Given the description of an element on the screen output the (x, y) to click on. 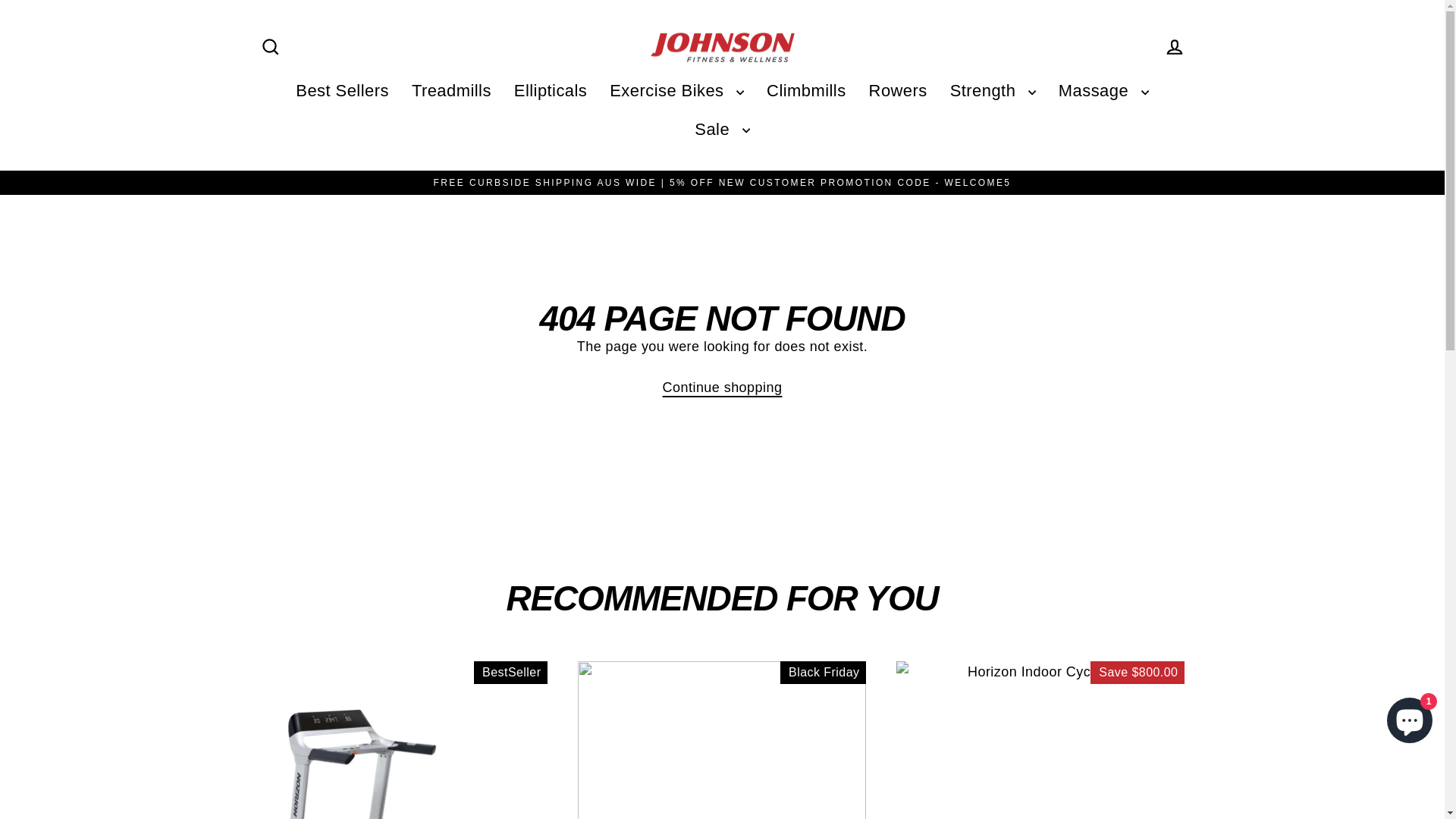
Continue shopping Element type: text (722, 387)
Rowers Element type: text (897, 90)
Climbmills Element type: text (806, 90)
Treadmills Element type: text (451, 90)
Search Element type: text (269, 47)
Shopify online store chat Element type: hover (1409, 717)
Best Sellers Element type: text (342, 90)
Ellipticals Element type: text (550, 90)
Log in Element type: text (1173, 47)
